Given the description of an element on the screen output the (x, y) to click on. 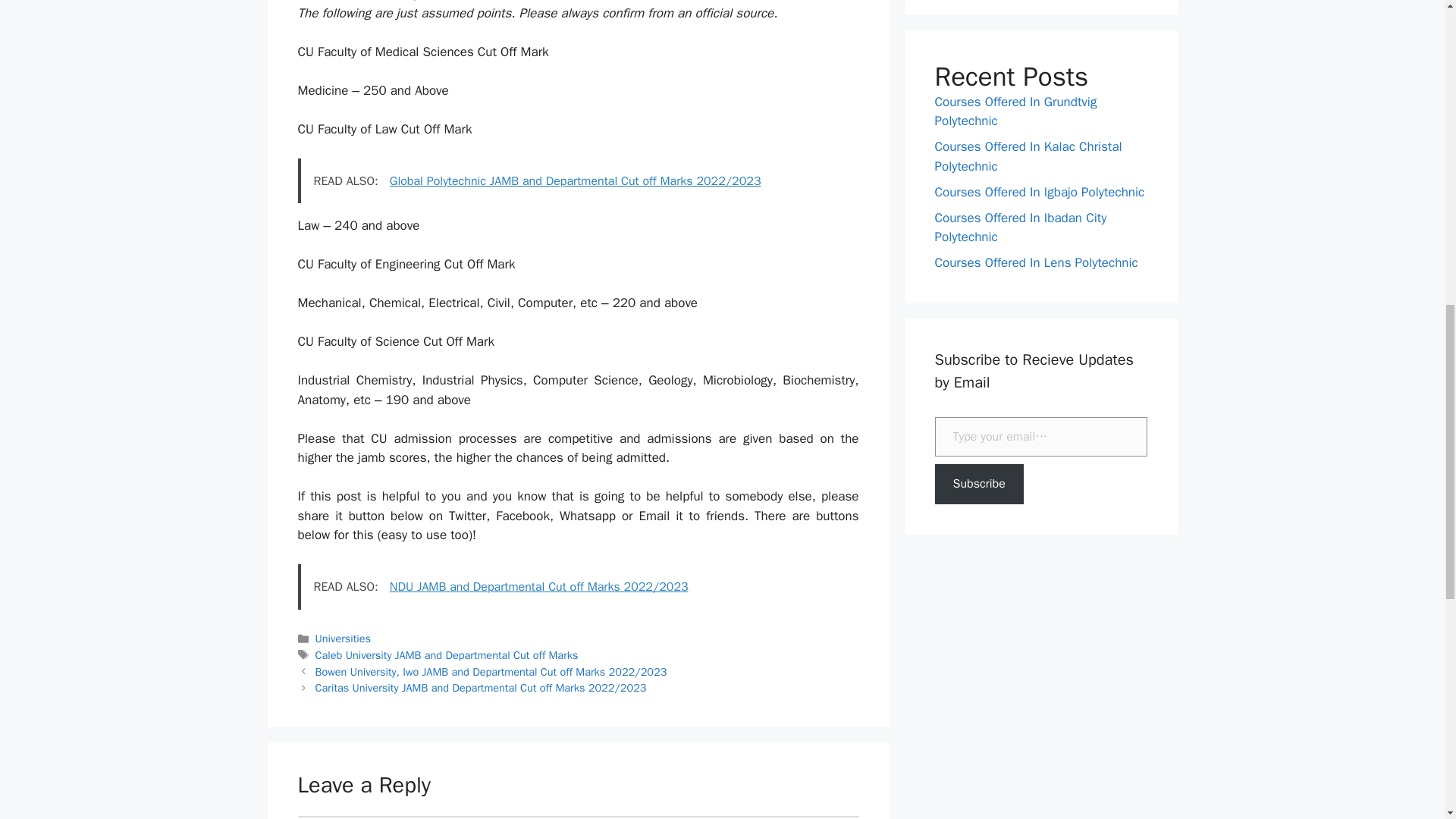
Courses Offered In Ibadan City Polytechnic (1020, 226)
Caleb University JAMB and Departmental Cut off Marks (446, 654)
Subscribe (978, 484)
Courses Offered In Grundtvig Polytechnic (1015, 111)
Courses Offered In Lens Polytechnic (1035, 262)
Courses Offered In Kalac Christal Polytechnic (1027, 156)
Universities (343, 638)
Scroll back to top (1406, 720)
Please fill in this field. (1040, 436)
